Given the description of an element on the screen output the (x, y) to click on. 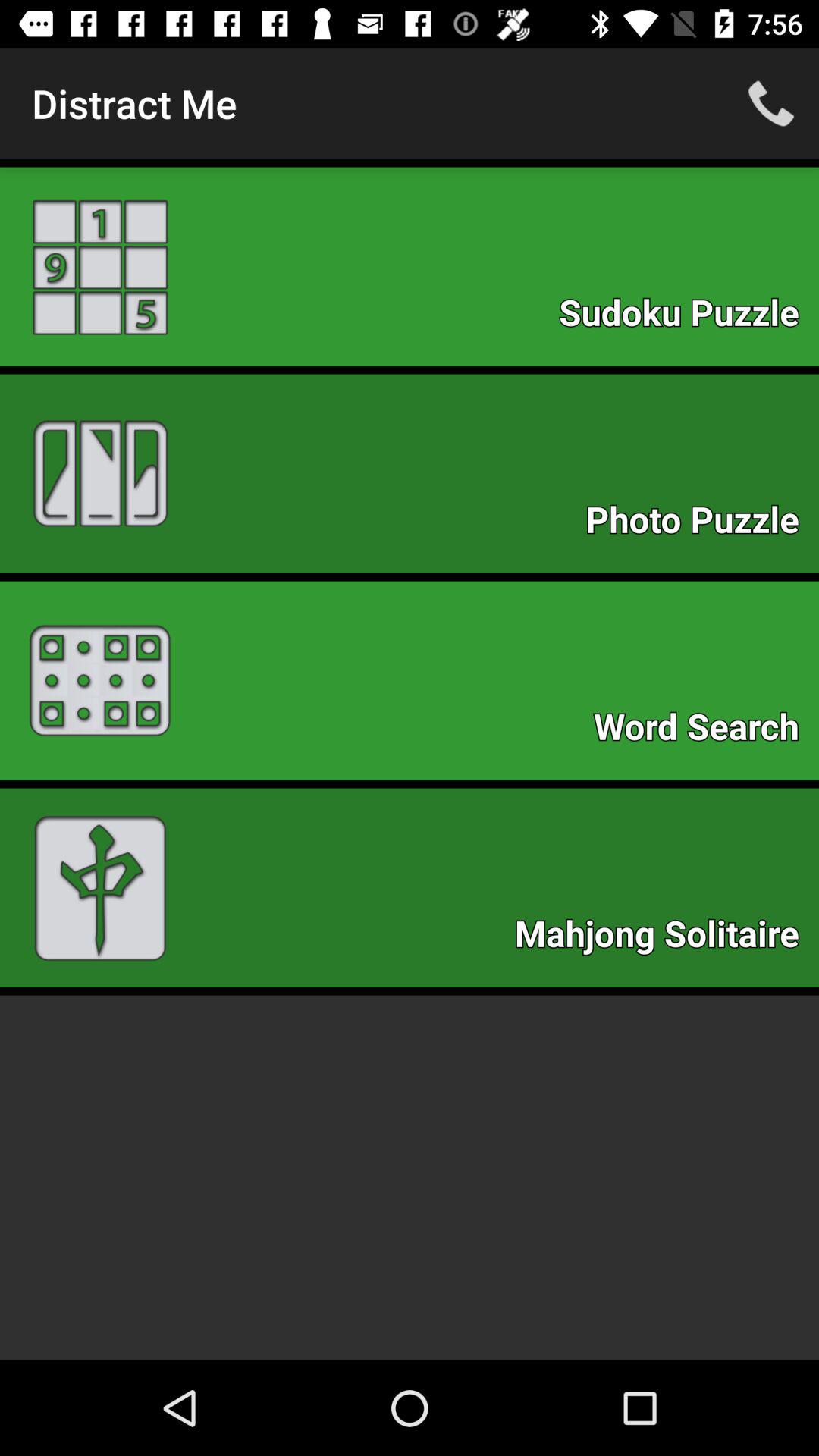
choose icon to the right of distract me item (771, 103)
